Given the description of an element on the screen output the (x, y) to click on. 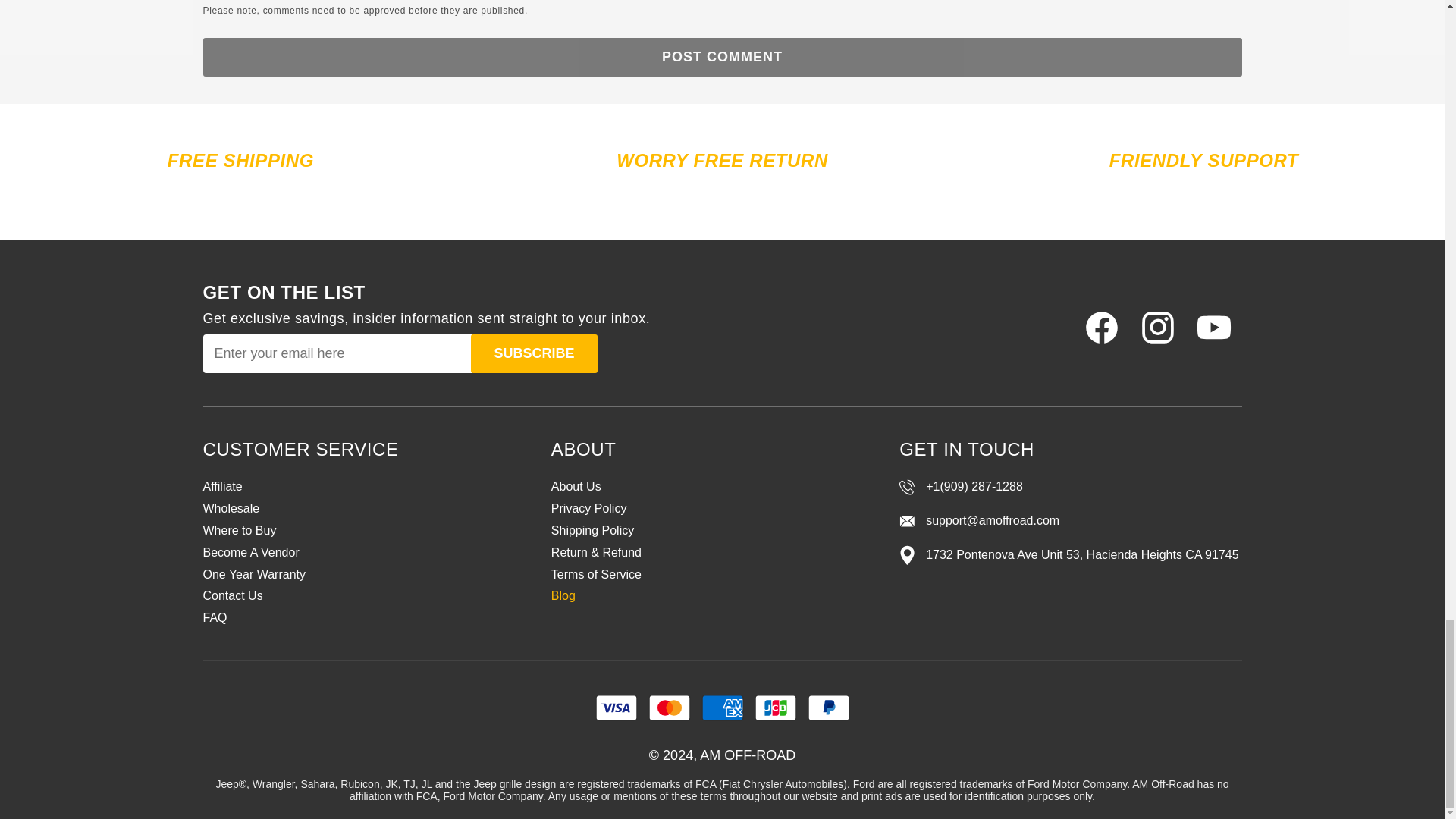
Post comment (722, 56)
